Given the description of an element on the screen output the (x, y) to click on. 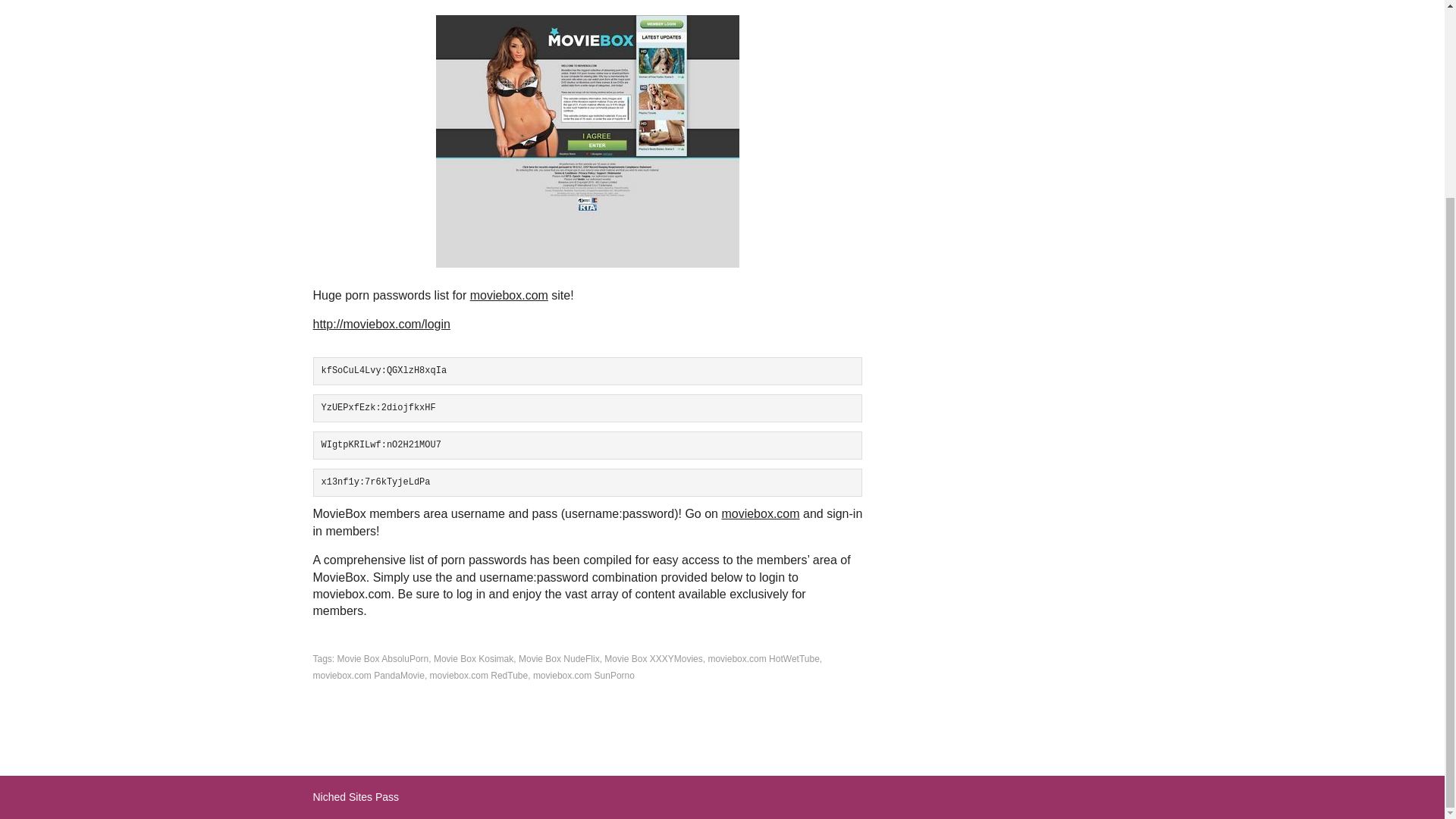
Movie Box NudeFlix (558, 658)
moviebox.com HotWetTube (762, 658)
moviebox.com PandaMovie (368, 675)
Movie Box Kosimak (473, 658)
Movie Box (587, 141)
Movie Box AbsoluPorn (383, 658)
moviebox.com SunPorno (583, 675)
moviebox.com RedTube (478, 675)
moviebox.com (759, 513)
moviebox.com (509, 295)
